Given the description of an element on the screen output the (x, y) to click on. 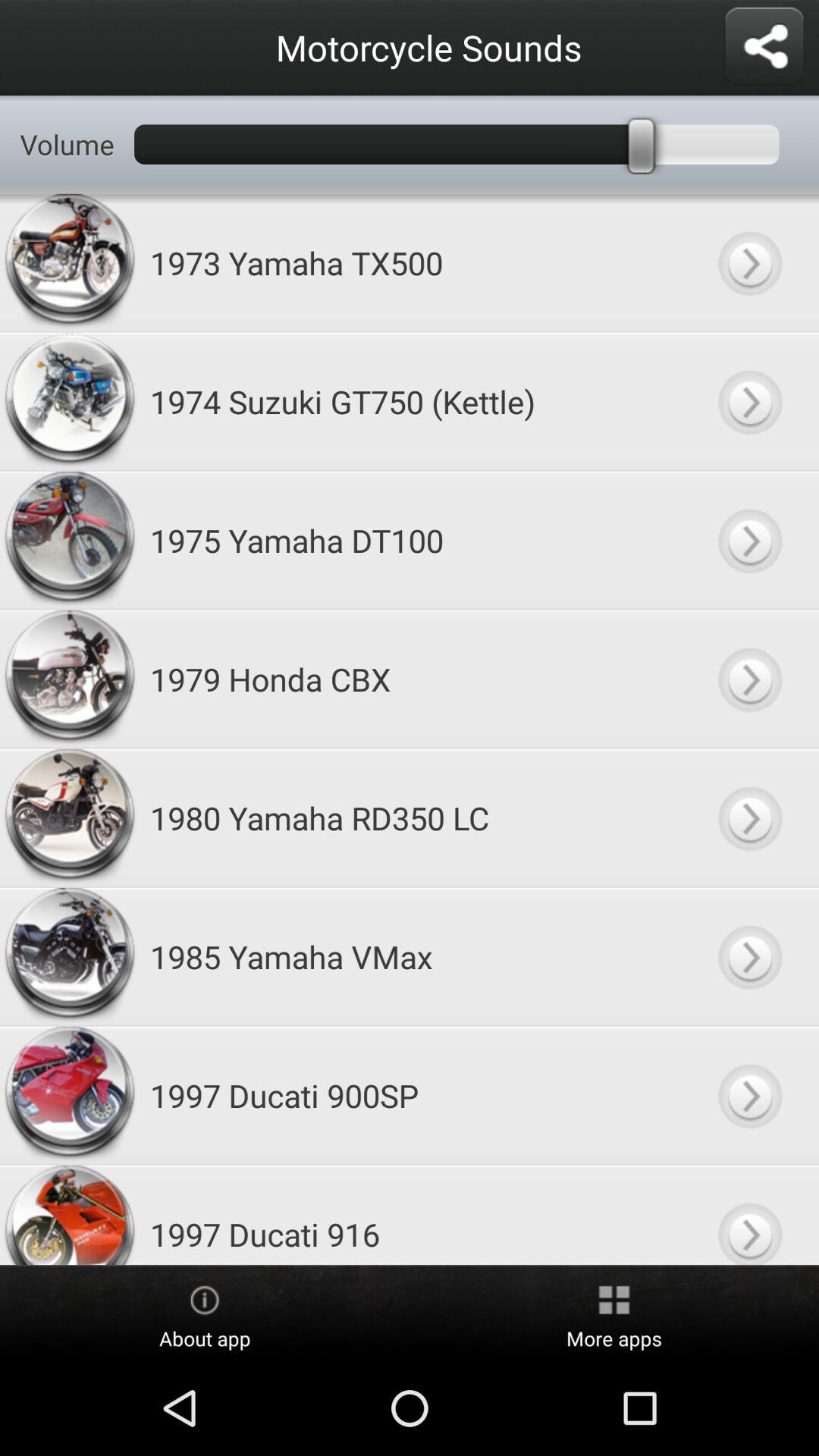
play motorcycle sound (749, 262)
